Given the description of an element on the screen output the (x, y) to click on. 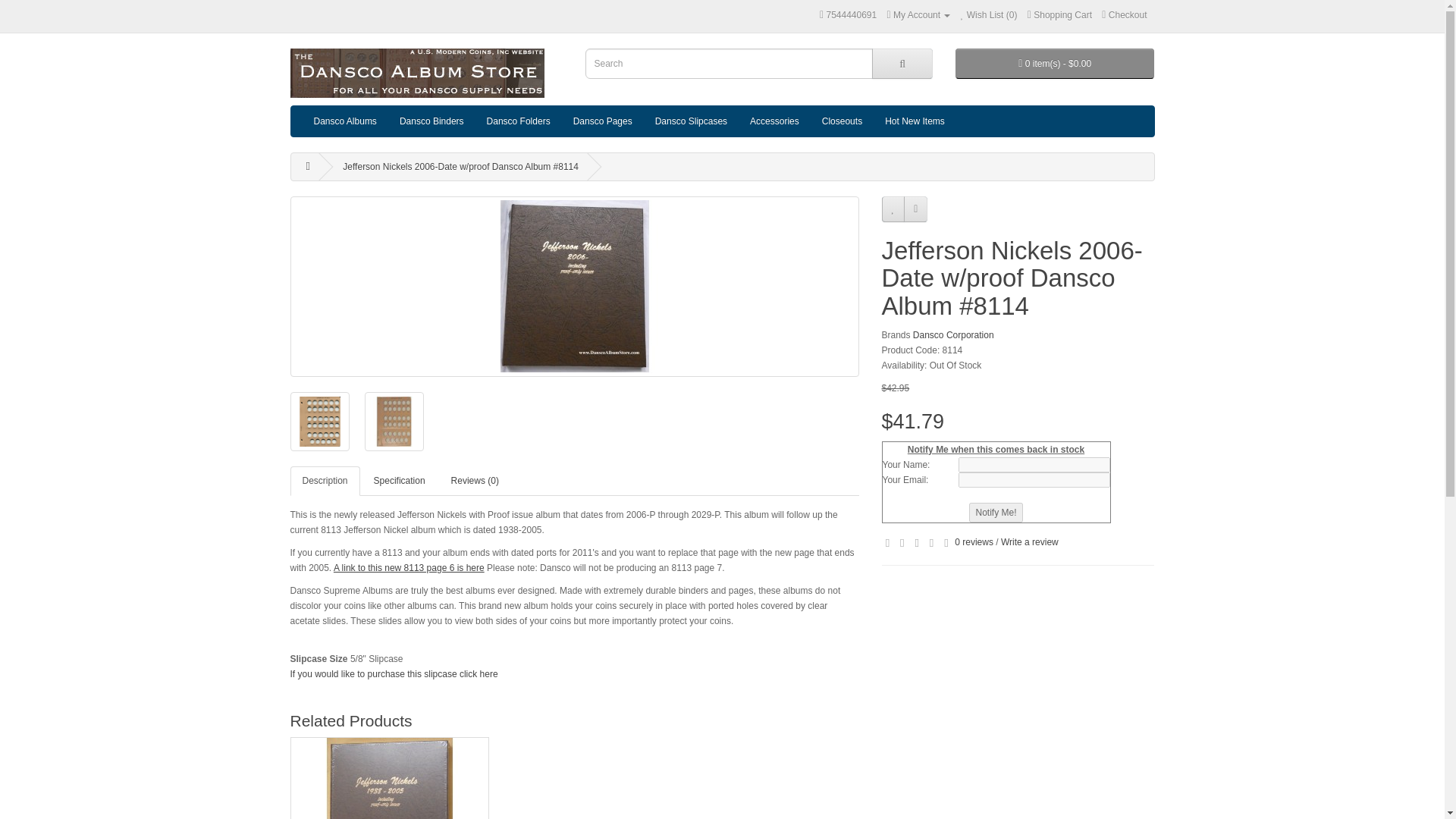
Shopping Cart (1059, 14)
Shopping Cart (1059, 14)
Dansco Folders (519, 121)
Dansco Binders (432, 121)
Checkout (1124, 14)
Dansco Albums (344, 121)
Checkout (1124, 14)
My Account (918, 14)
The Dansco Album Store (416, 72)
My Account (918, 14)
Dansco Slipcases (690, 121)
Dansco Pages (602, 121)
Accessories (774, 121)
Notify Me! (995, 512)
